Given the description of an element on the screen output the (x, y) to click on. 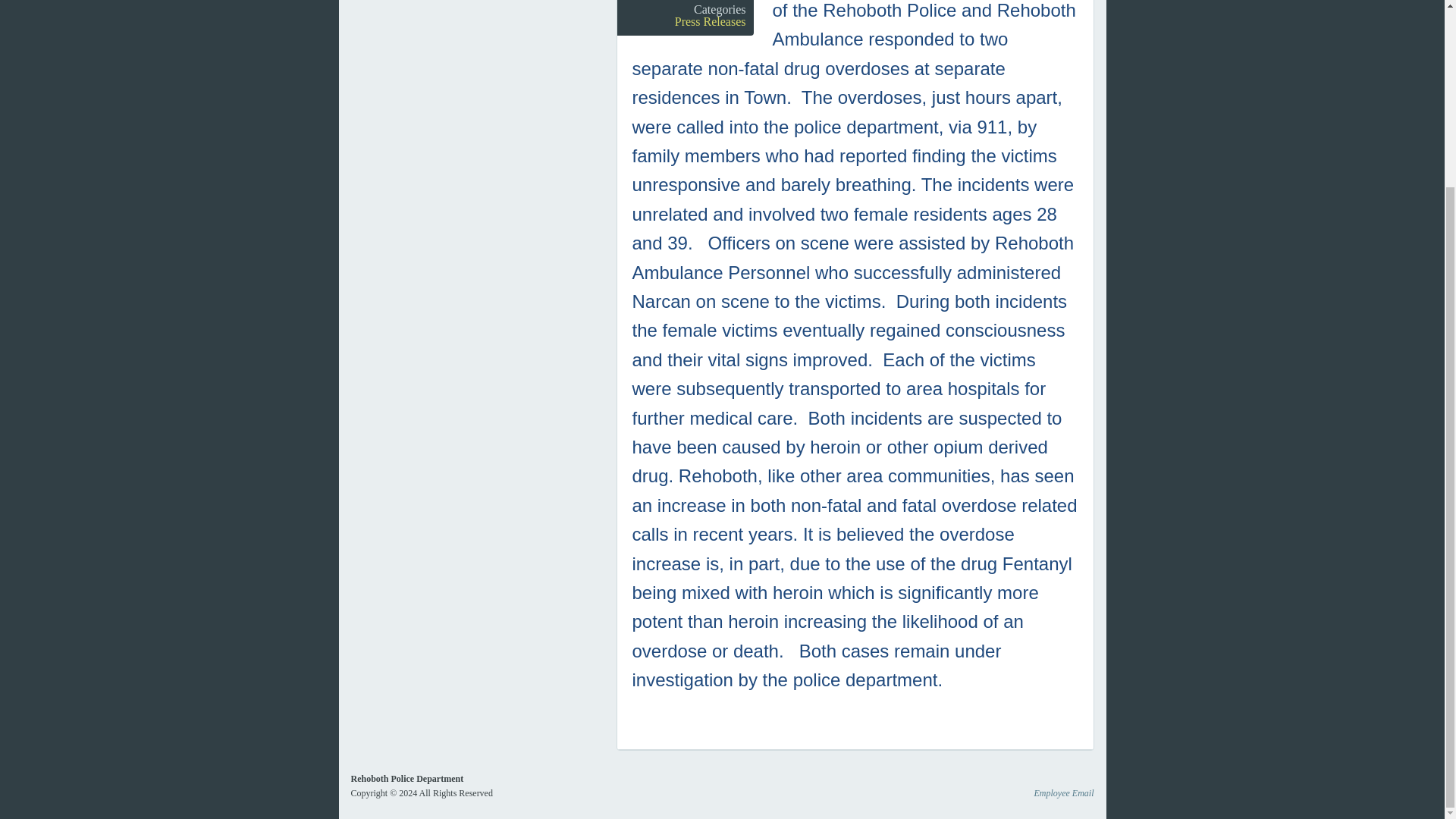
Press Releases (710, 21)
Employee Email (1063, 792)
